Given the description of an element on the screen output the (x, y) to click on. 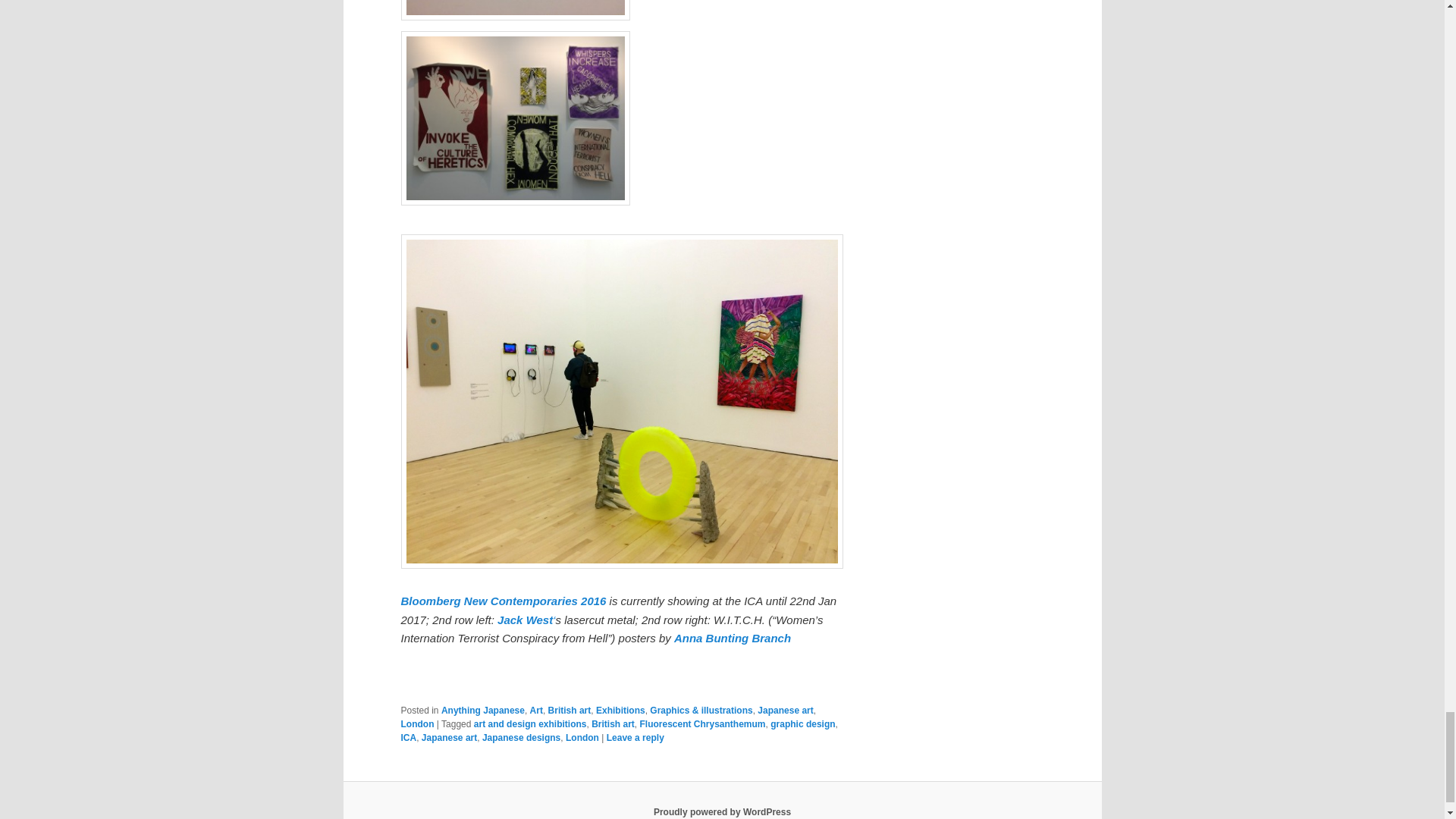
Anna Bunting Branch (732, 637)
Anything Japanese (482, 710)
Bloomberg New Contemporaries 2016 (502, 600)
Semantic Personal Publishing Platform (721, 811)
Exhibitions (620, 710)
Art (536, 710)
British art (569, 710)
Japanese art (784, 710)
